Given the description of an element on the screen output the (x, y) to click on. 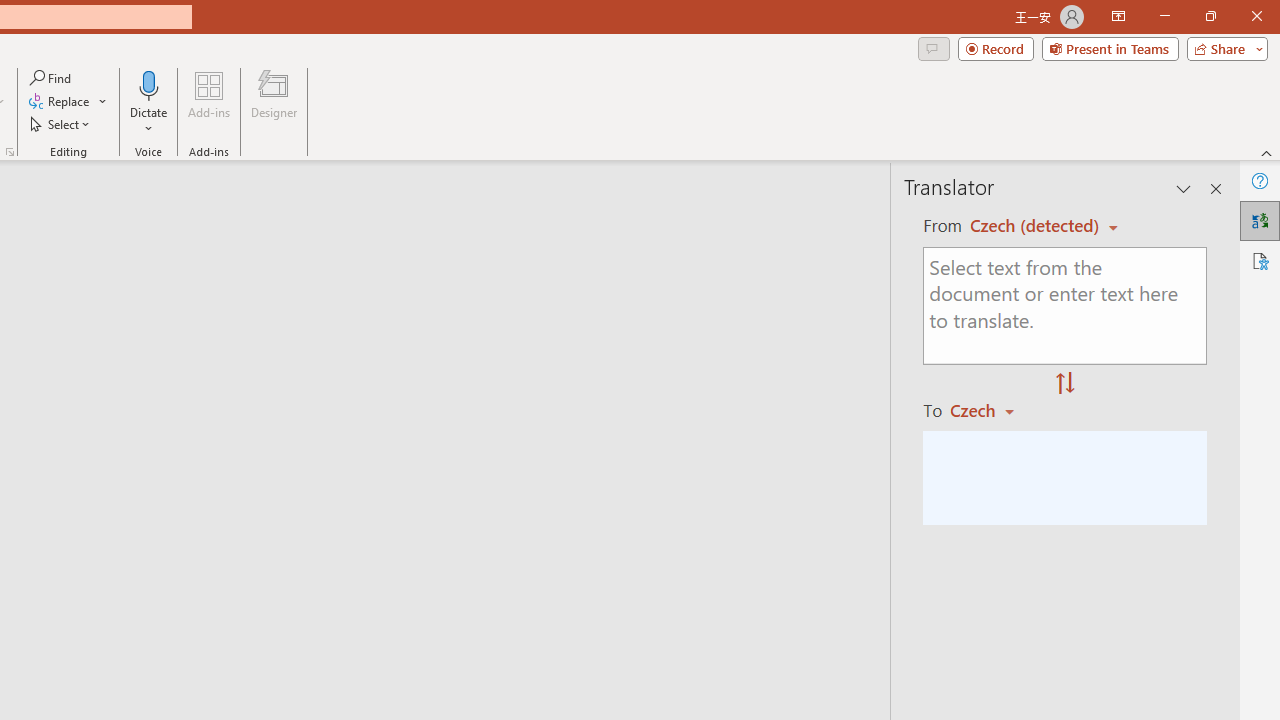
Czech (991, 409)
